Given the description of an element on the screen output the (x, y) to click on. 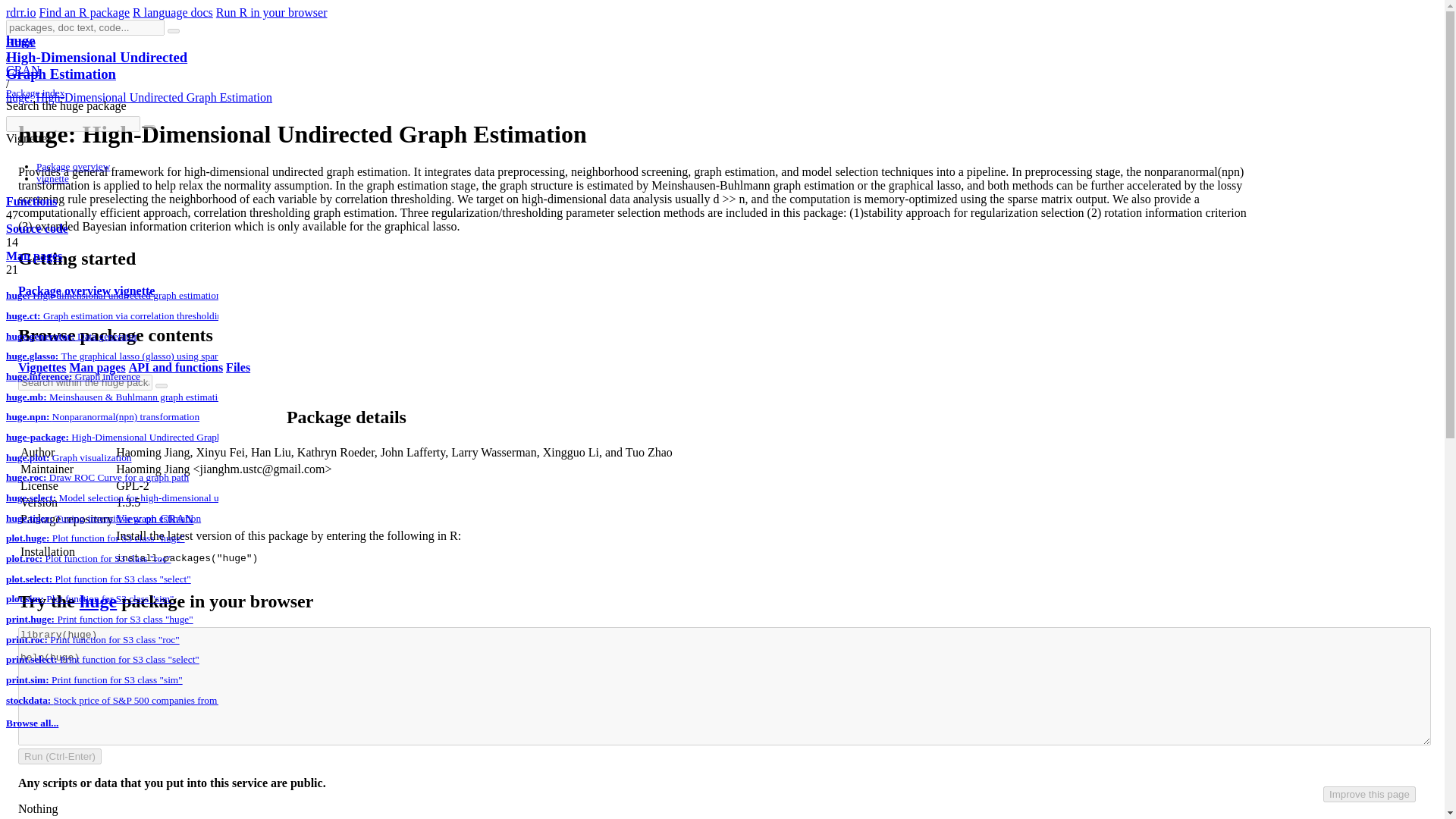
plot.roc: Plot function for S3 class "roc" (88, 558)
huge: High-dimensional undirected graph estimation (113, 295)
huge.inference: Graph inference (72, 376)
Source code (36, 228)
Find an R package (85, 11)
vignette (52, 178)
Functions (31, 201)
print.select: Print function for S3 class "select" (102, 659)
huge.tiger: Tuning-insensitive graph estimation (102, 518)
rdrr.io (20, 11)
vignette (133, 290)
Home (19, 42)
print.sim: Print function for S3 class "sim" (94, 679)
